Given the description of an element on the screen output the (x, y) to click on. 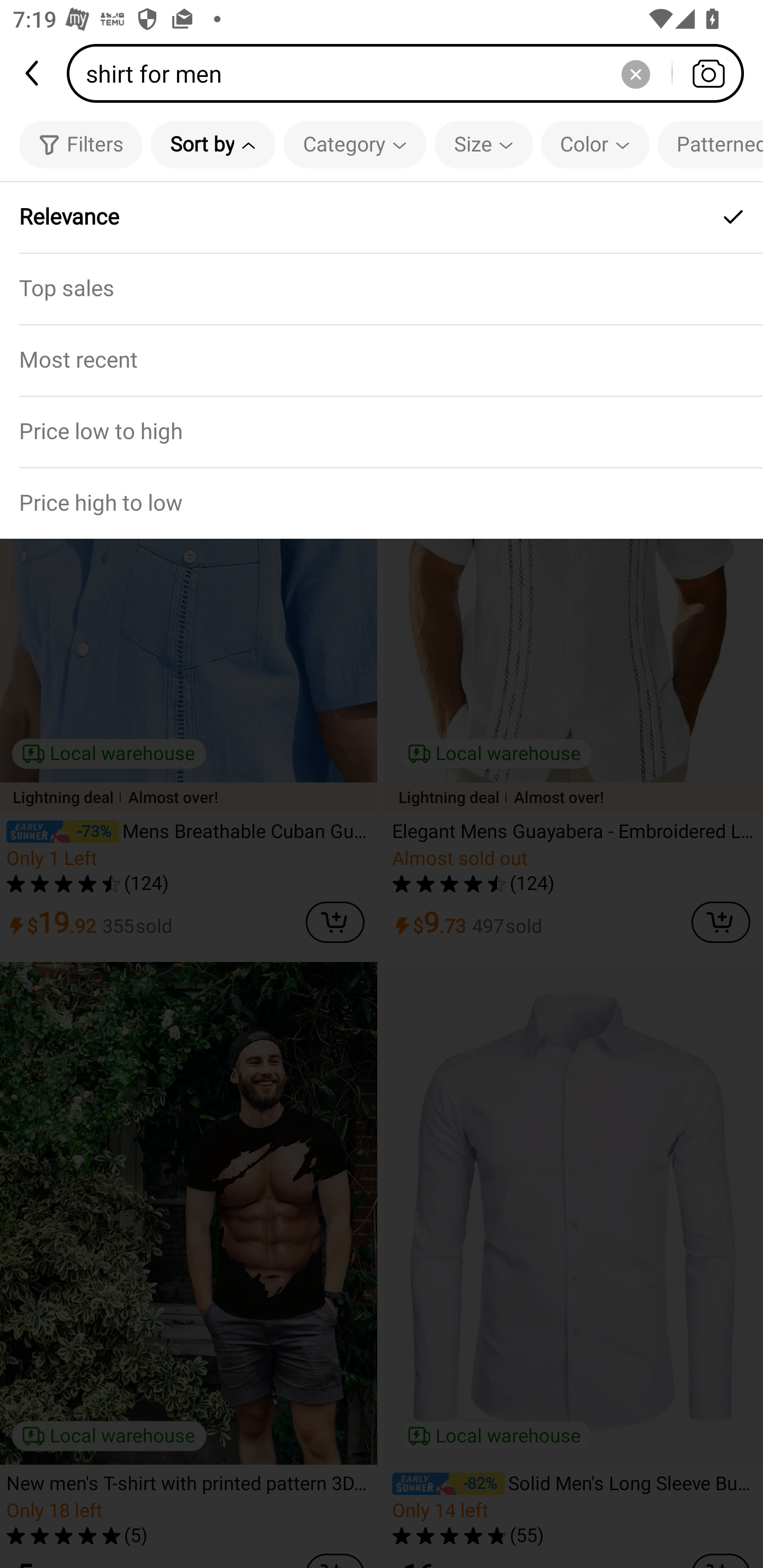
back (33, 72)
shirt for men (411, 73)
Delete search history (635, 73)
Search by photo (708, 73)
Filters (80, 143)
Sort by (212, 143)
Category (354, 143)
Size (483, 143)
Color (594, 143)
Patterned (710, 143)
Relevance (381, 216)
Top sales (381, 288)
Most recent (381, 359)
Price low to high (381, 431)
Price high to low (381, 503)
